Given the description of an element on the screen output the (x, y) to click on. 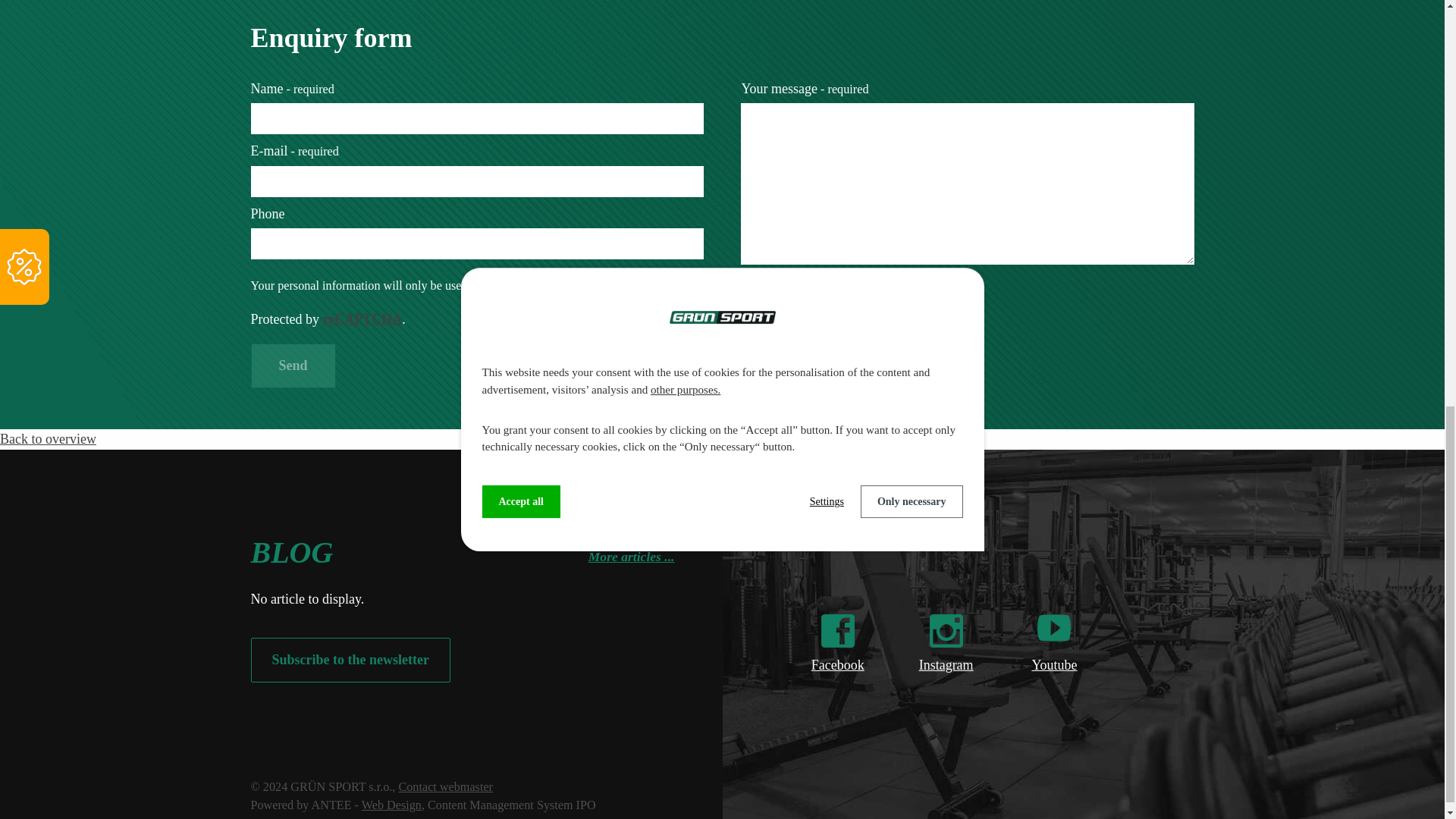
More articles ... (631, 549)
Send (292, 365)
Subscribe to the newsletter (349, 660)
Instagram (945, 675)
Facebook (837, 675)
reCAPTCHA (361, 319)
principles of processing personal data (845, 285)
Youtube (1054, 675)
Contact webmaster (445, 786)
Back to overview (48, 438)
Send (292, 365)
